Given the description of an element on the screen output the (x, y) to click on. 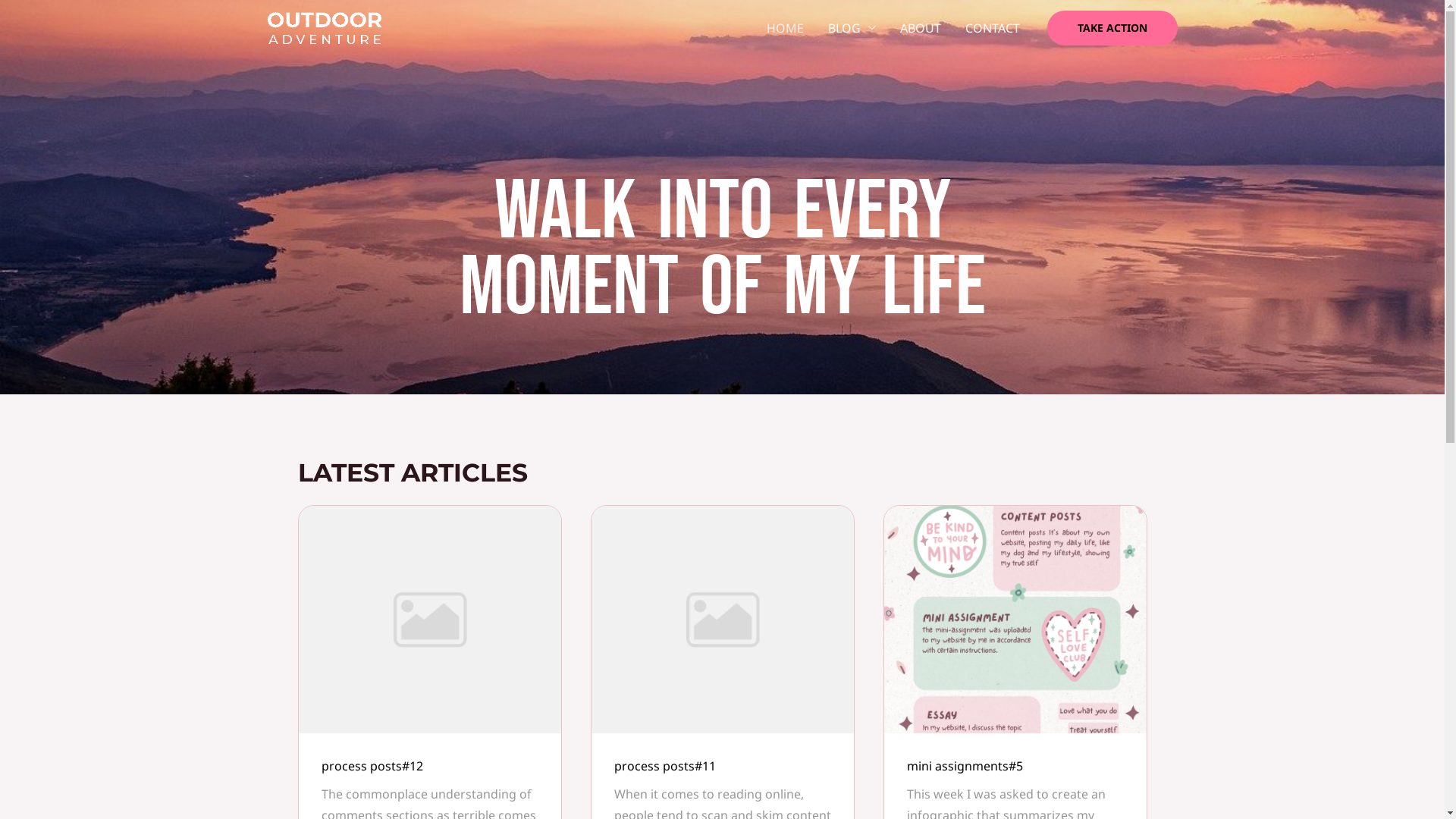
process posts#11 Element type: text (664, 765)
ABOUT Element type: text (919, 27)
CONTACT Element type: text (991, 27)
mini assignments#5 Element type: text (964, 765)
BLOG Element type: text (851, 27)
TAKE ACTION Element type: text (1111, 27)
process posts#12 Element type: text (372, 765)
HOME Element type: text (784, 27)
